Given the description of an element on the screen output the (x, y) to click on. 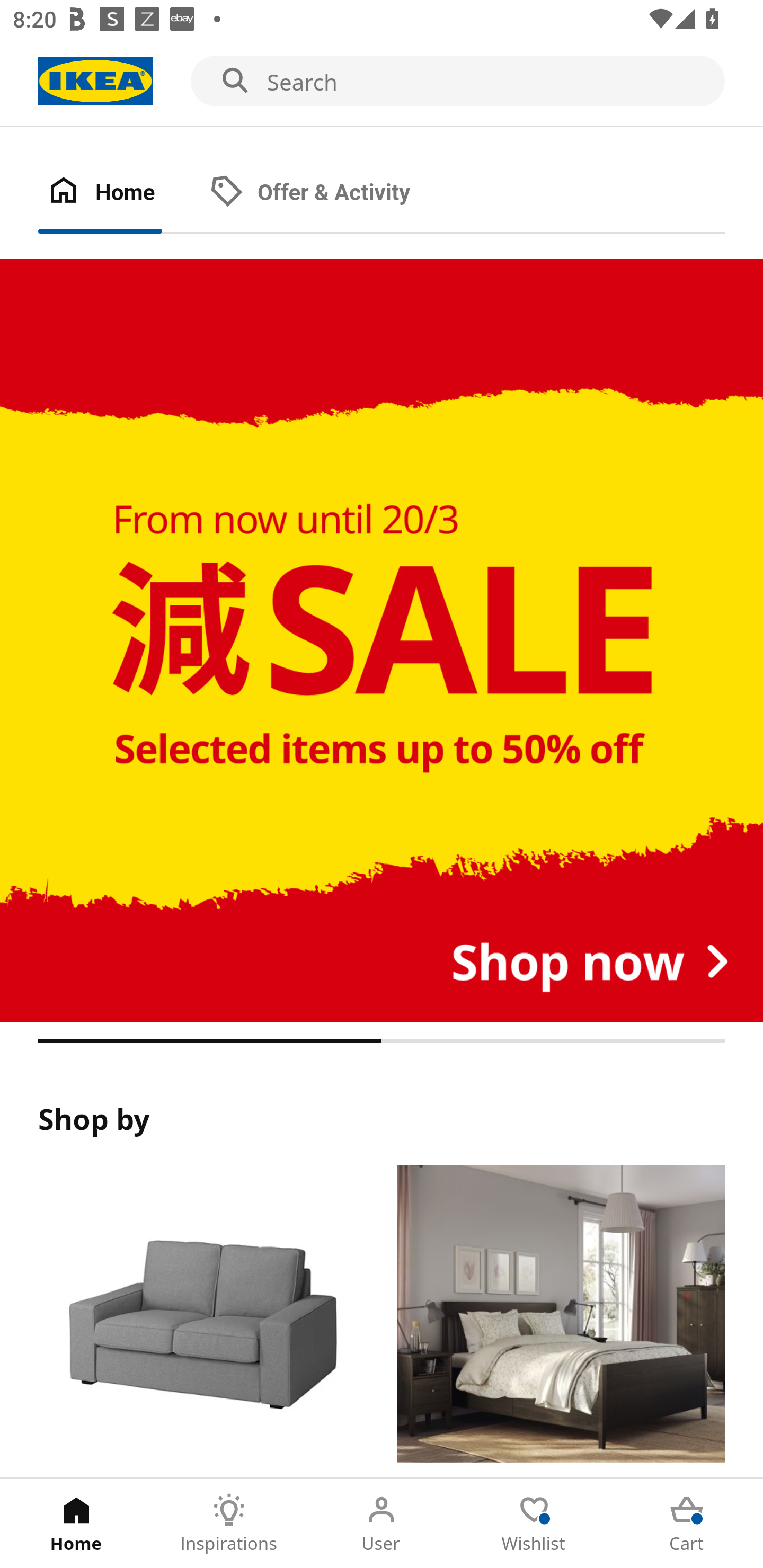
Search (381, 81)
Home
Tab 1 of 2 (118, 192)
Offer & Activity
Tab 2 of 2 (327, 192)
Products (201, 1321)
Rooms (560, 1321)
Home
Tab 1 of 5 (76, 1522)
Inspirations
Tab 2 of 5 (228, 1522)
User
Tab 3 of 5 (381, 1522)
Wishlist
Tab 4 of 5 (533, 1522)
Cart
Tab 5 of 5 (686, 1522)
